Given the description of an element on the screen output the (x, y) to click on. 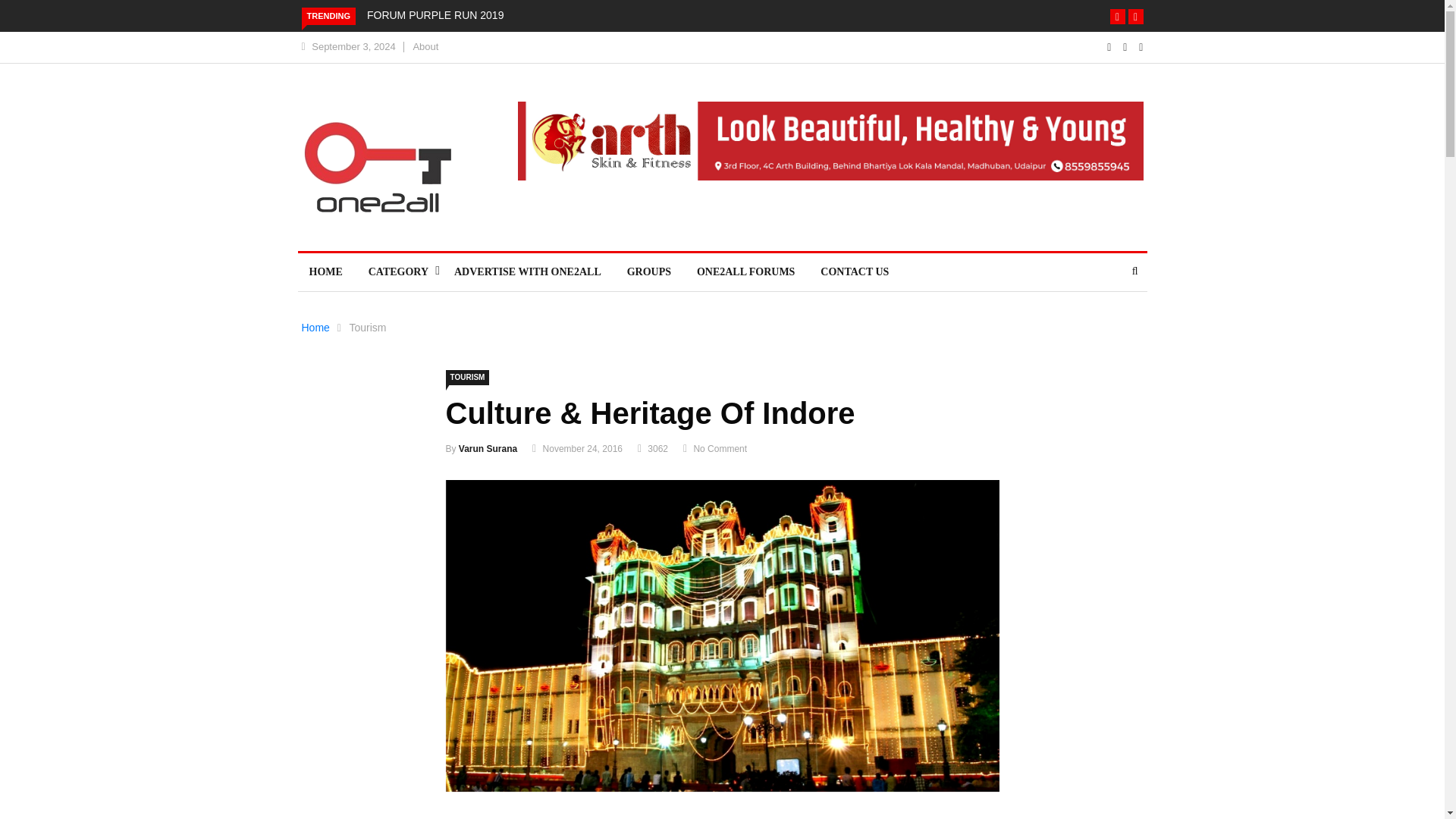
CATEGORY (397, 272)
ONE2ALL FORUMS (745, 272)
logo (376, 167)
HOME (325, 272)
No Comment (719, 448)
Home (315, 327)
GROUPS (648, 272)
Varun Surana (487, 448)
Posts by Varun Surana (487, 448)
About (425, 46)
